Given the description of an element on the screen output the (x, y) to click on. 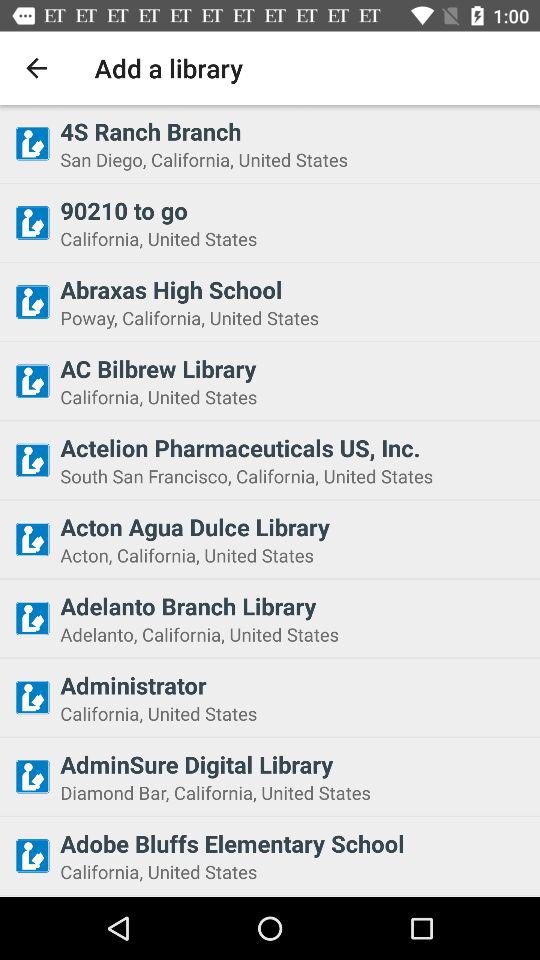
open item below the abraxas high school item (294, 317)
